Given the description of an element on the screen output the (x, y) to click on. 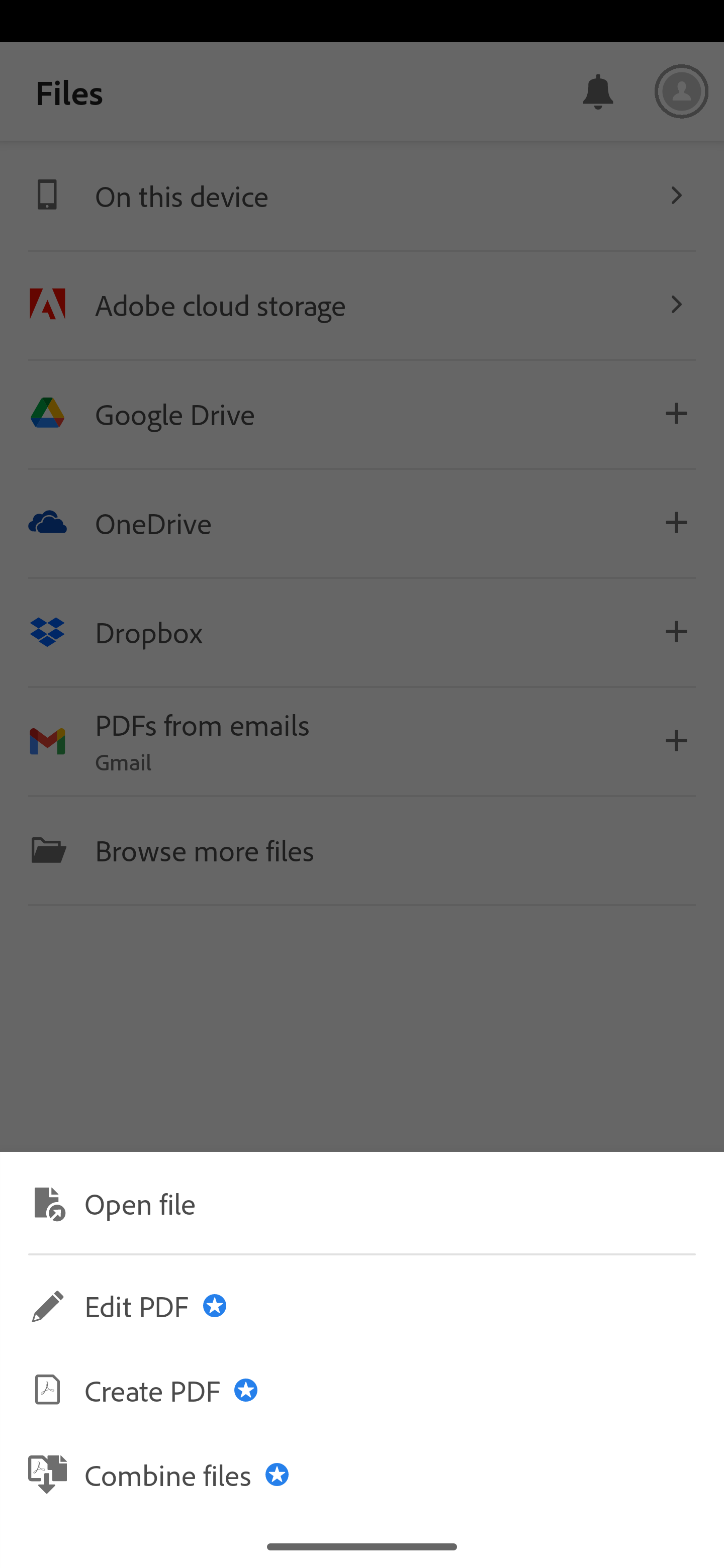
Open file (362, 1202)
Edit PDF Premium (362, 1305)
Create PDF Premium (362, 1389)
Combine files Premium (362, 1473)
